Given the description of an element on the screen output the (x, y) to click on. 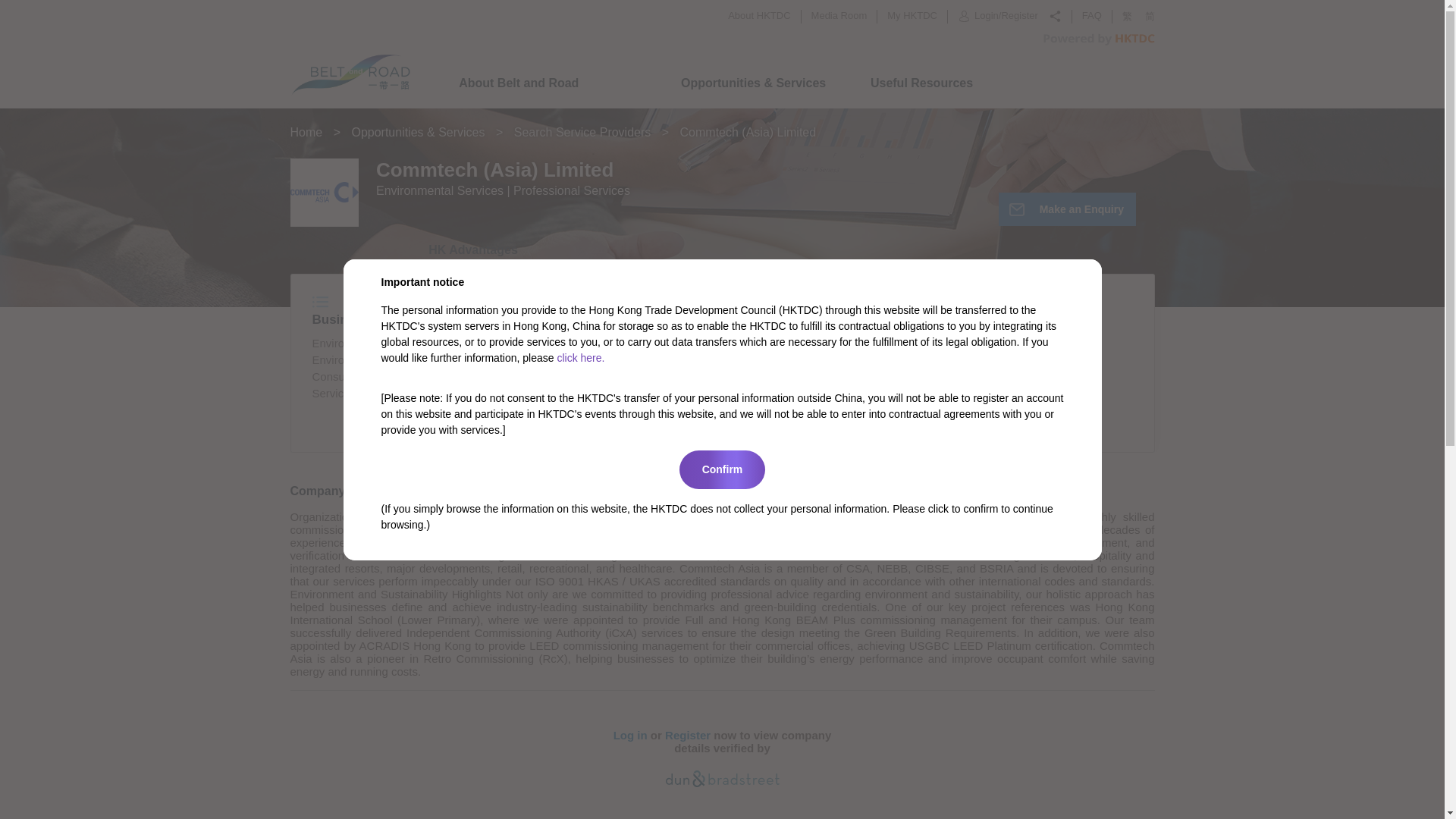
About Belt and Road (518, 83)
My HKTDC (911, 15)
About HKTDC (759, 15)
Media Room (838, 15)
Register (1018, 16)
Share (1054, 15)
FAQ (1091, 15)
Useful Resources (921, 83)
Login (986, 16)
